Given the description of an element on the screen output the (x, y) to click on. 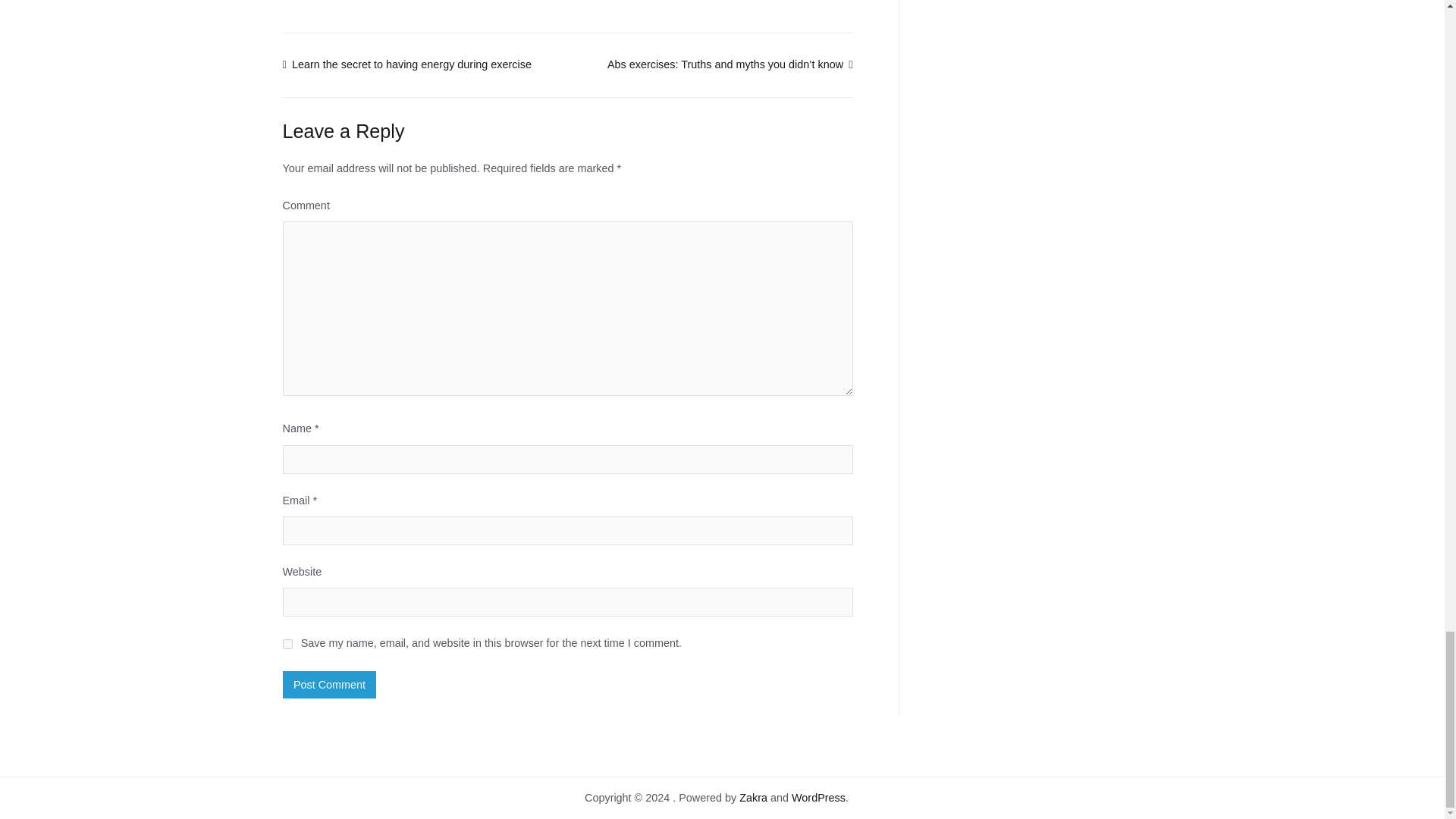
yes (287, 644)
Zakra (753, 797)
Post Comment (328, 684)
WordPress (818, 797)
